Given the description of an element on the screen output the (x, y) to click on. 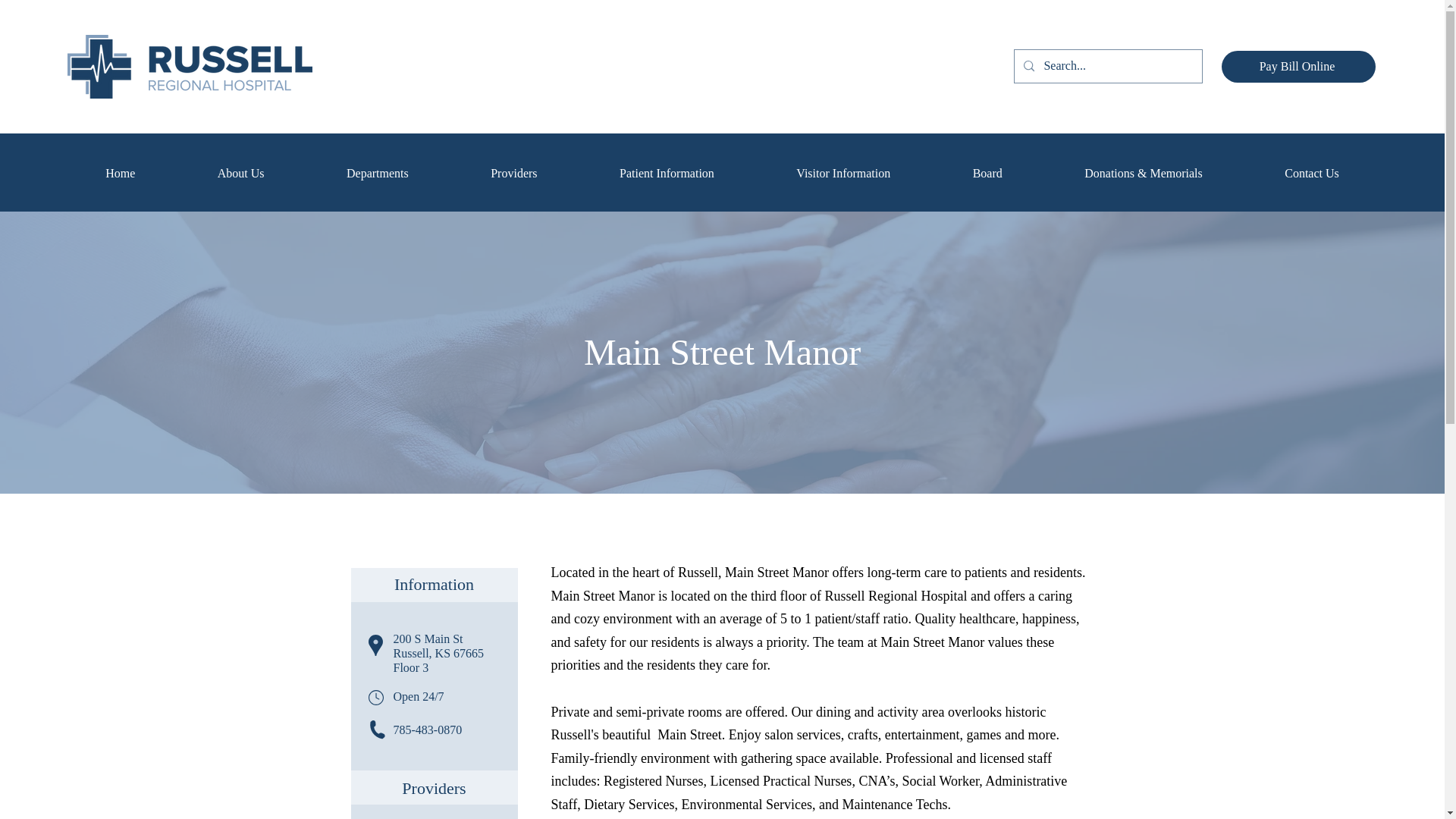
Pay Bill Online (1298, 66)
Providers (513, 173)
Home (119, 173)
